Given the description of an element on the screen output the (x, y) to click on. 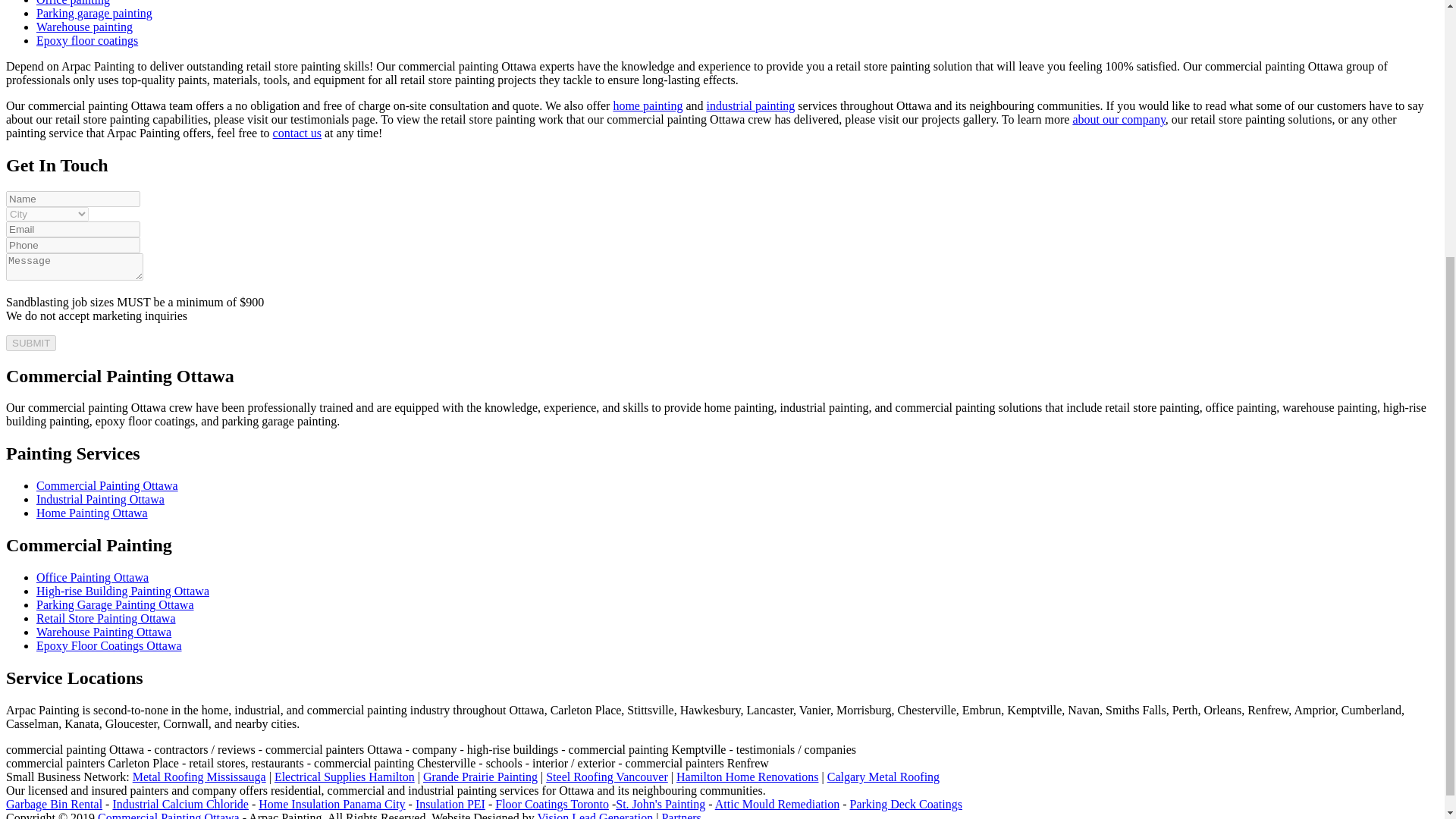
Retail Store Painting Ottawa (106, 617)
Home Painting Ottawa (92, 512)
Electrical Supplies Hamilton (344, 776)
industrial painting (750, 105)
Commercial Painting Ottawa (106, 485)
Parking garage painting (94, 12)
Grande Prairie Painting (480, 776)
Warehouse Painting Ottawa (103, 631)
SUBMIT (30, 342)
Parking Garage Painting Ottawa (114, 604)
home painting (647, 105)
Epoxy floor coatings (87, 40)
High-rise Building Painting Ottawa (122, 590)
contact us (297, 132)
Industrial Painting Ottawa (100, 499)
